Given the description of an element on the screen output the (x, y) to click on. 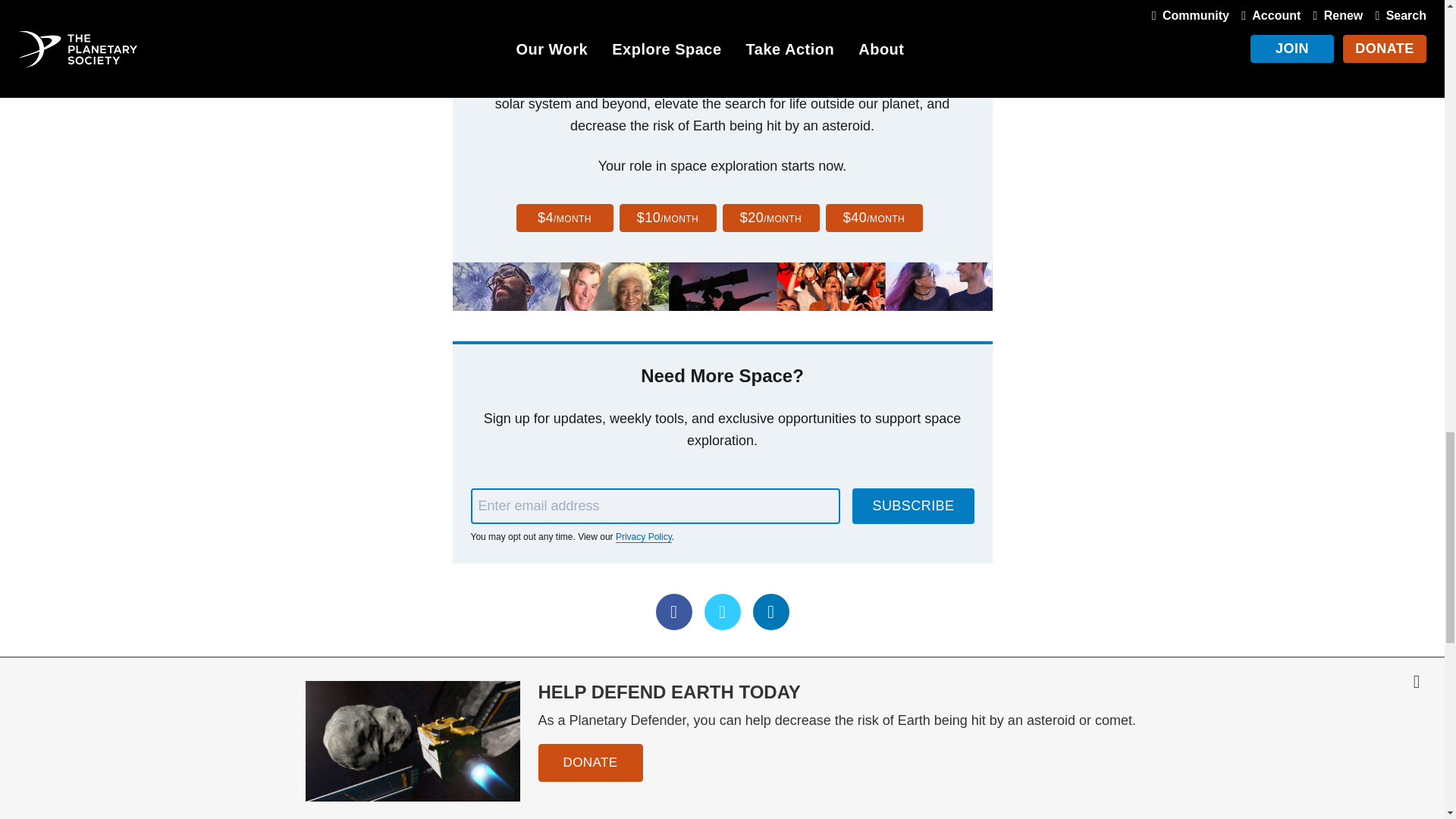
Subscribe (912, 506)
